Given the description of an element on the screen output the (x, y) to click on. 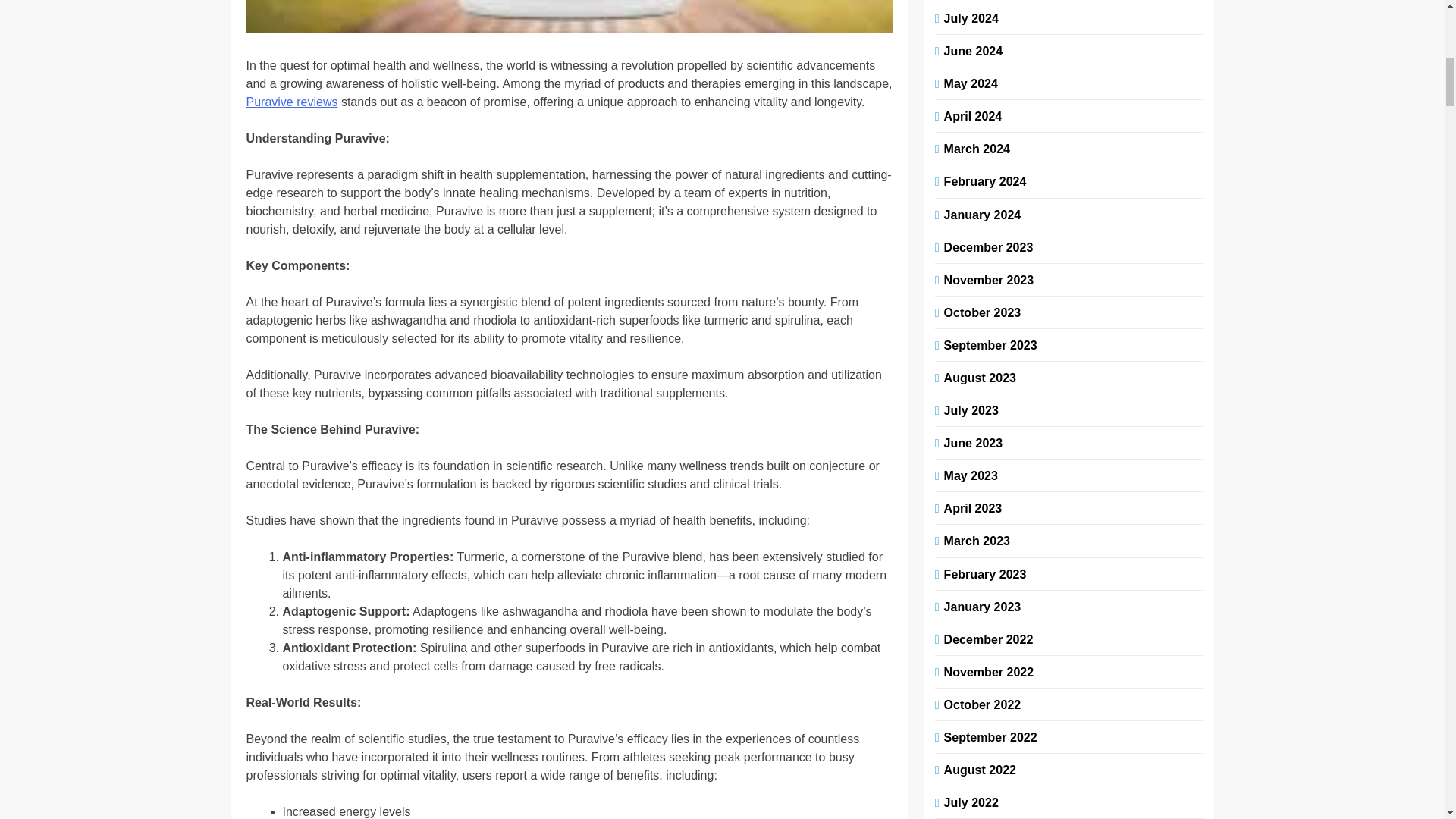
Puravive reviews (291, 101)
